Given the description of an element on the screen output the (x, y) to click on. 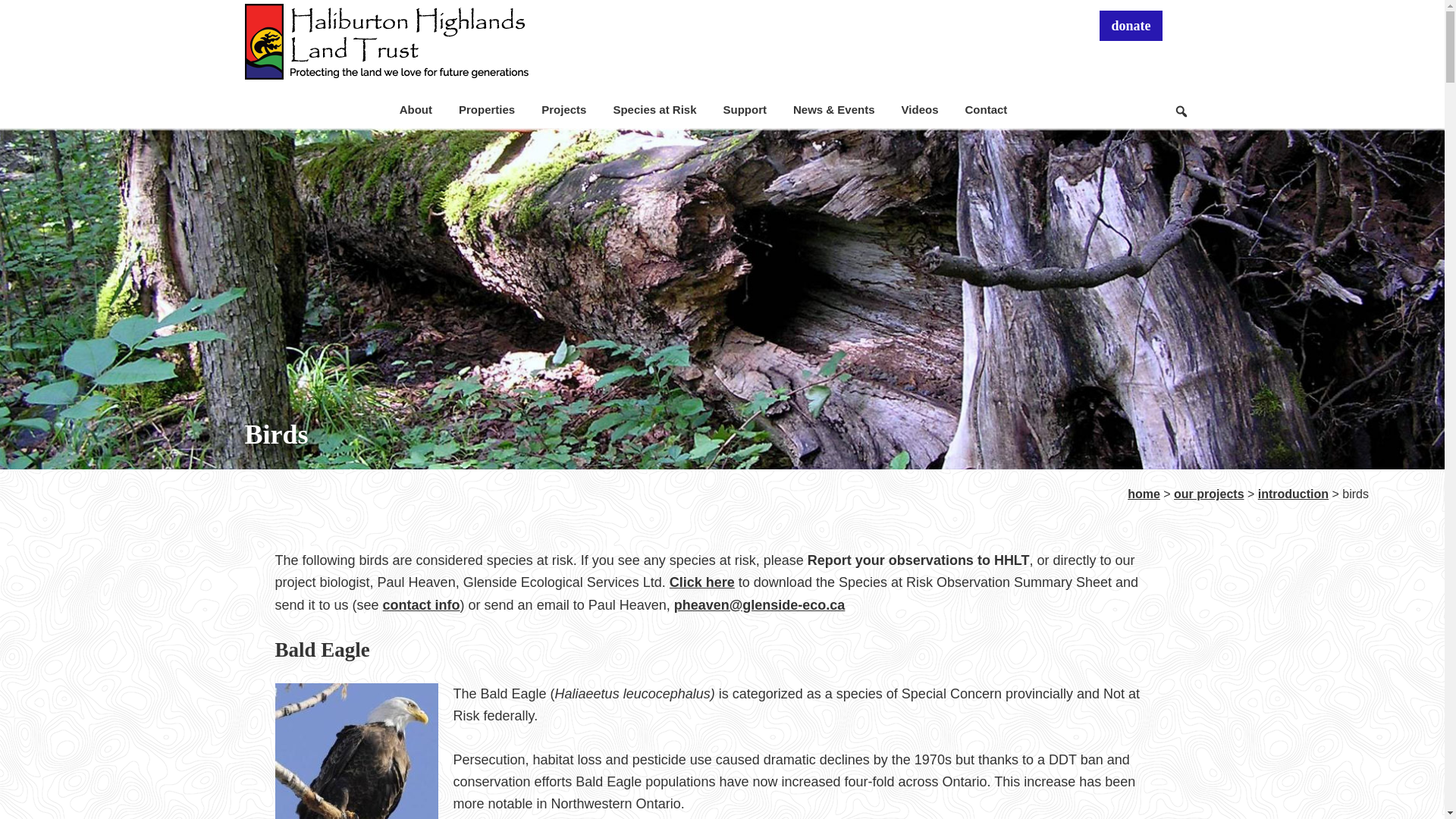
Properties (485, 109)
Projects (562, 109)
donate (1130, 25)
About (416, 109)
Support (744, 109)
Species at Risk (654, 109)
